Given the description of an element on the screen output the (x, y) to click on. 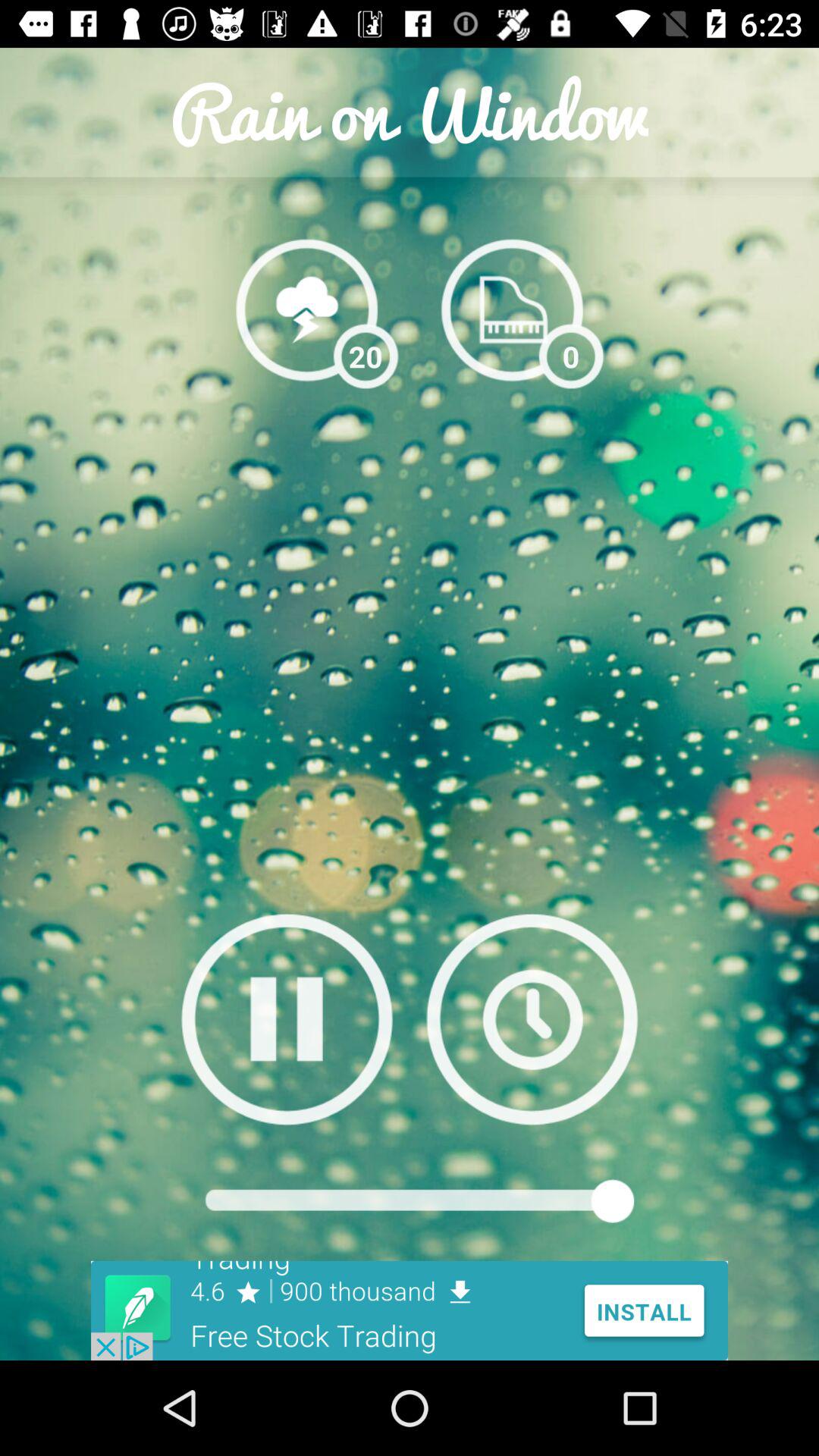
advertisement image or install option (409, 1310)
